Given the description of an element on the screen output the (x, y) to click on. 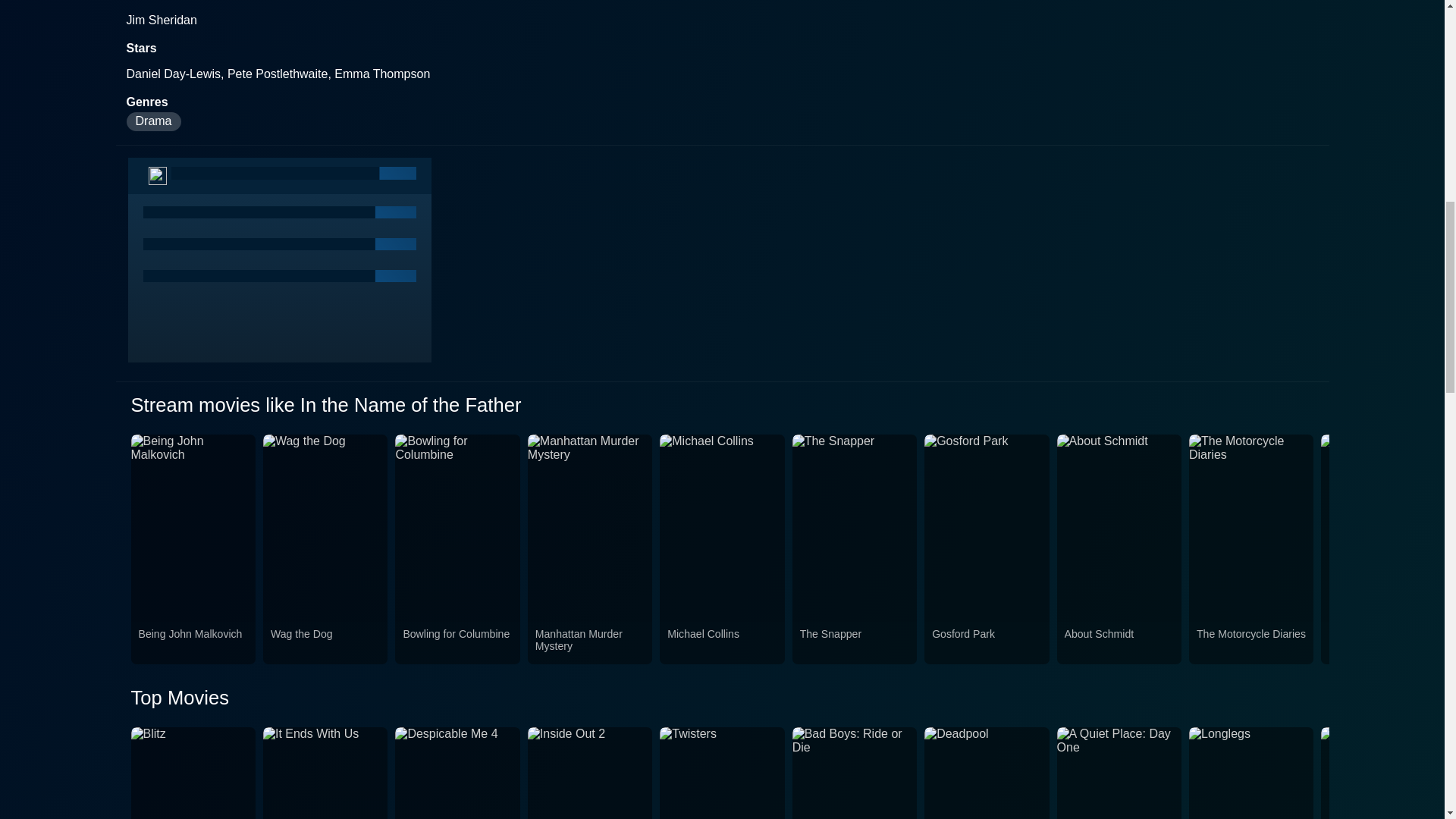
Wag the Dog (325, 643)
Gosford Park (986, 643)
About Schmidt (1118, 643)
Drama (152, 121)
My Left Foot (1382, 643)
The Snapper (853, 643)
Manhattan Murder Mystery (590, 643)
Being John Malkovich (192, 643)
The Motorcycle Diaries (1251, 643)
Michael Collins (721, 643)
